Given the description of an element on the screen output the (x, y) to click on. 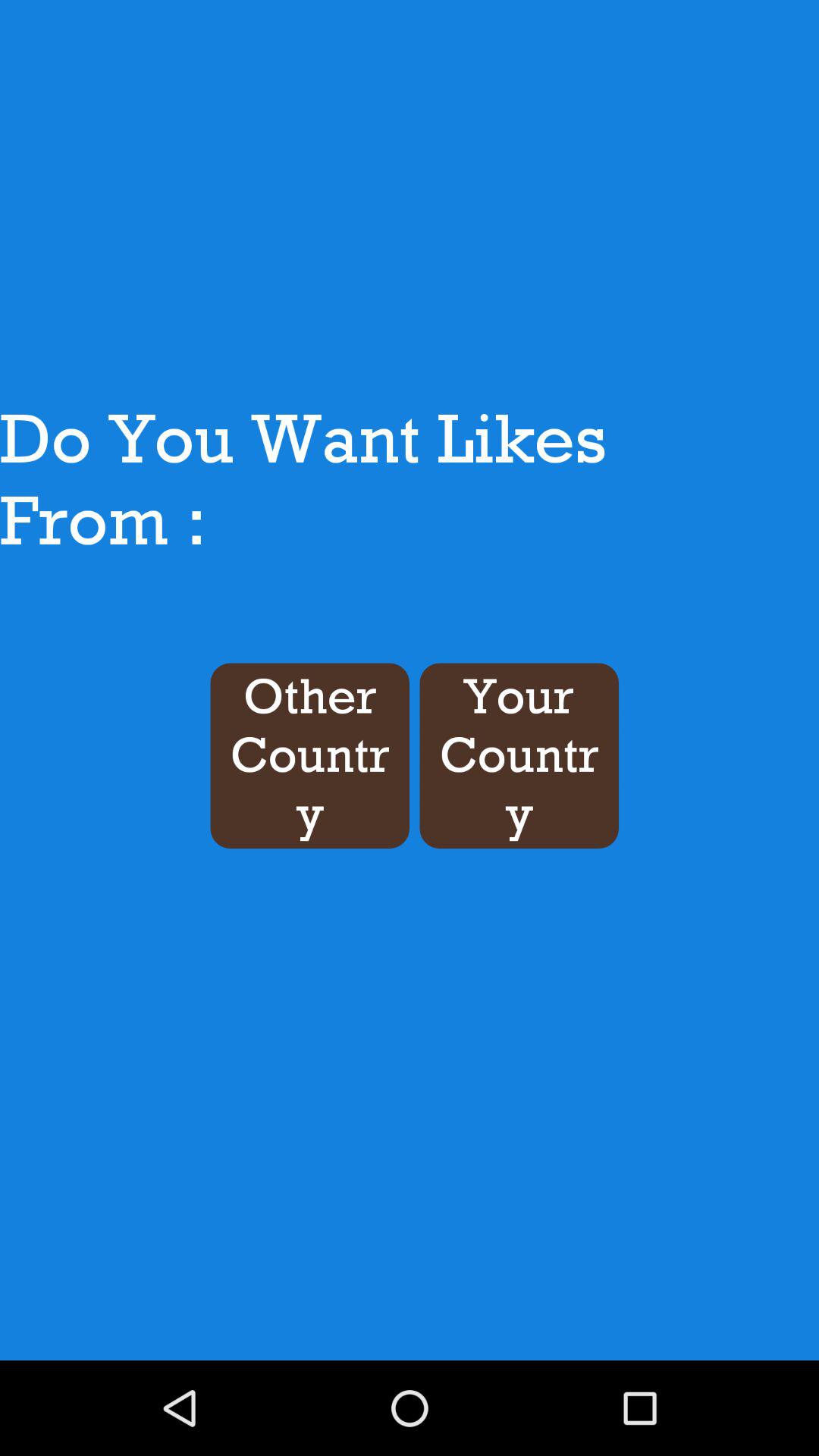
select the item below do you want item (518, 755)
